Given the description of an element on the screen output the (x, y) to click on. 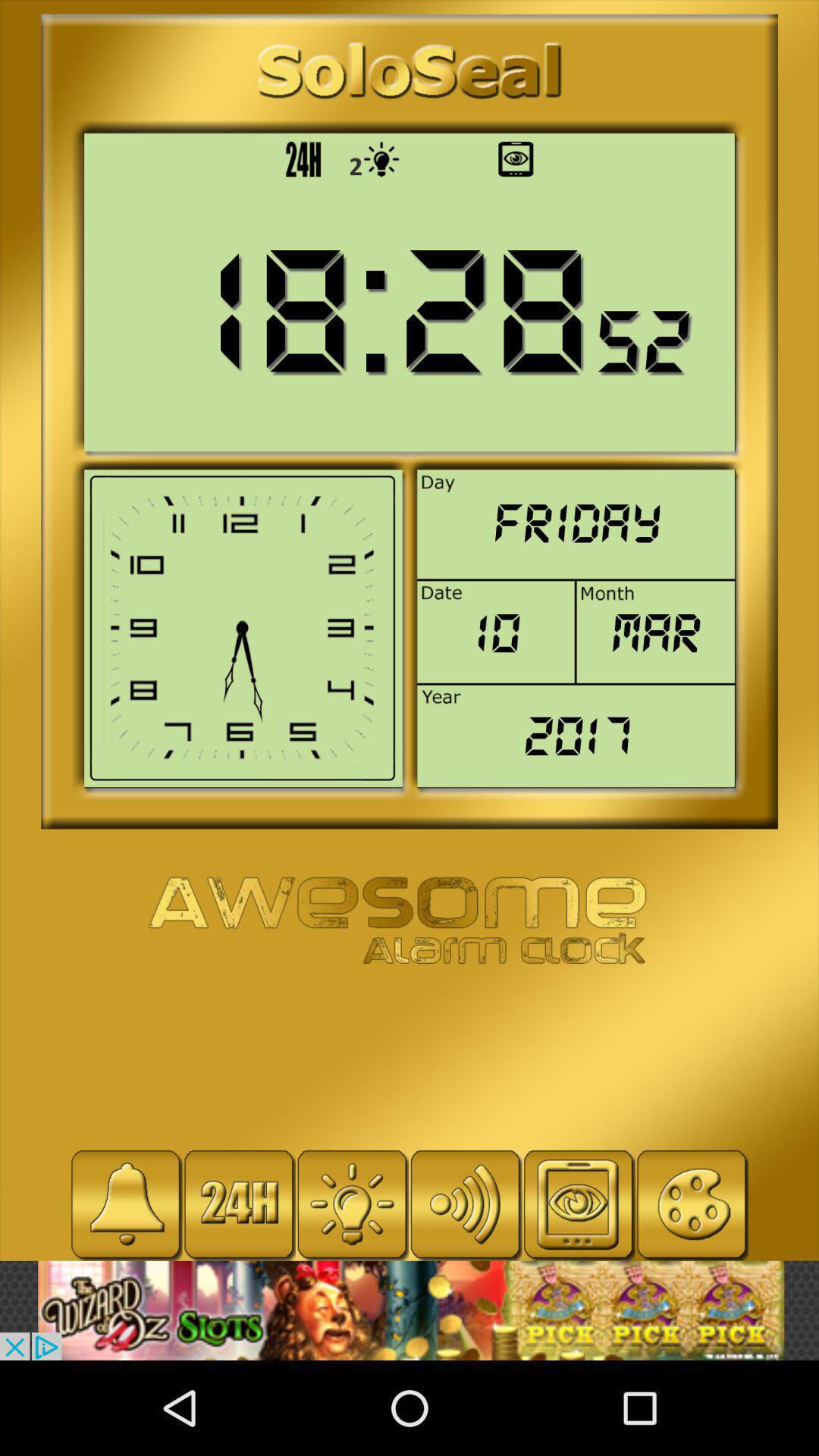
share the article (409, 1310)
